Given the description of an element on the screen output the (x, y) to click on. 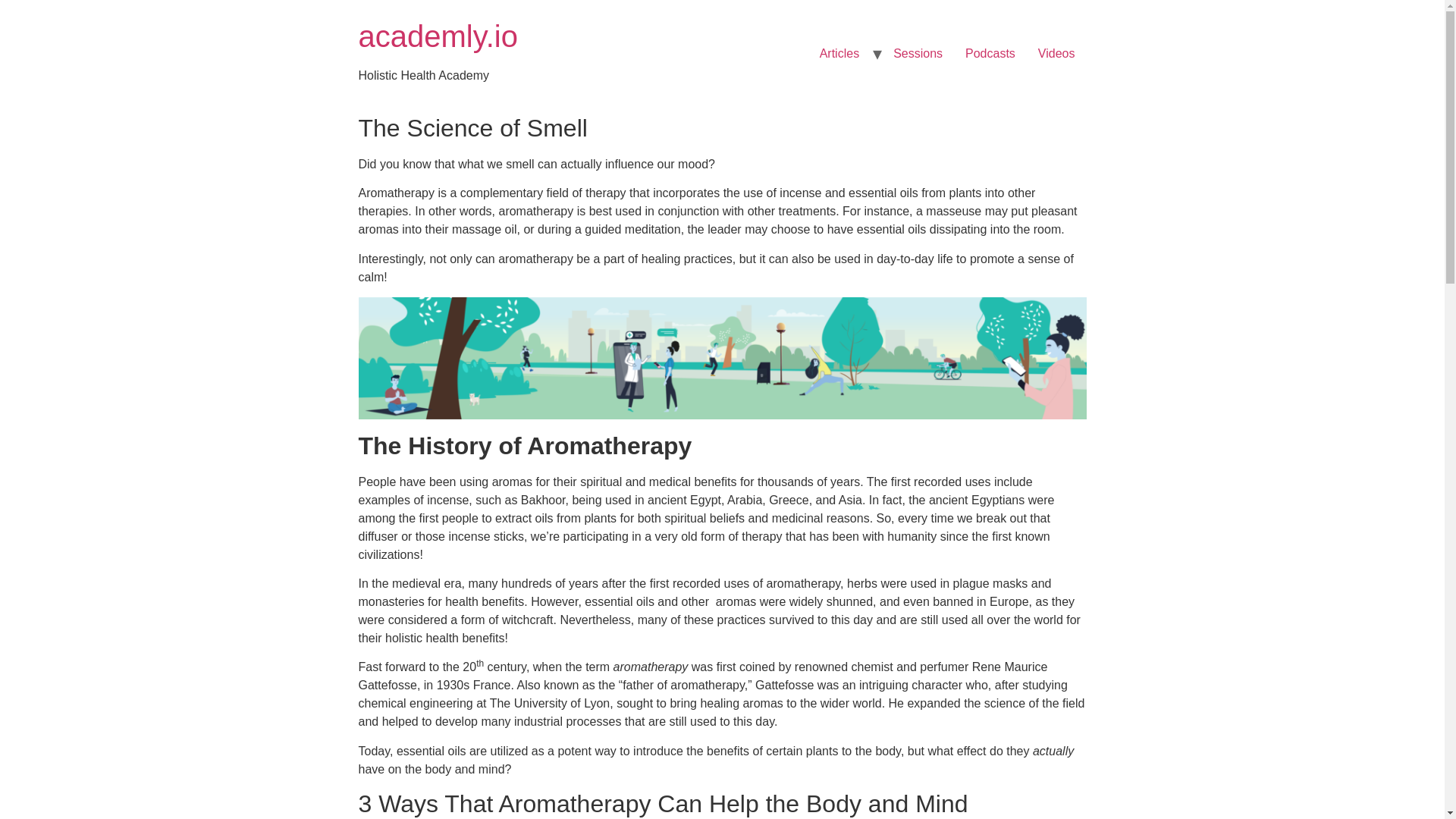
academly.io (437, 36)
Videos (1056, 53)
Home (437, 36)
Articles (839, 53)
Podcasts (989, 53)
Sessions (917, 53)
